Given the description of an element on the screen output the (x, y) to click on. 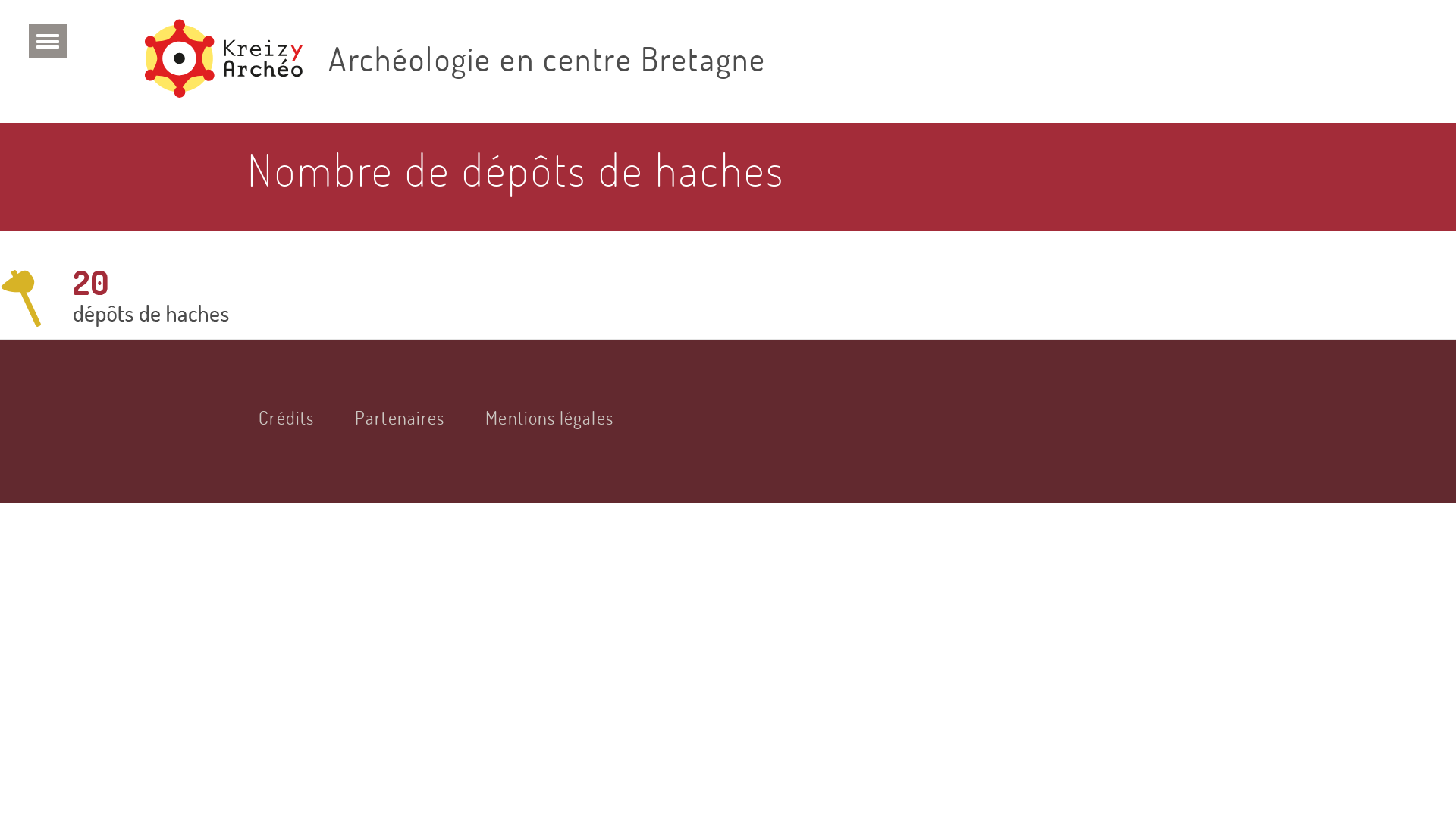
Partenaires Element type: text (399, 417)
Accueil Element type: hover (229, 61)
Aller au contenu principal Element type: text (0, 0)
Toggle navigation Element type: text (47, 40)
